Given the description of an element on the screen output the (x, y) to click on. 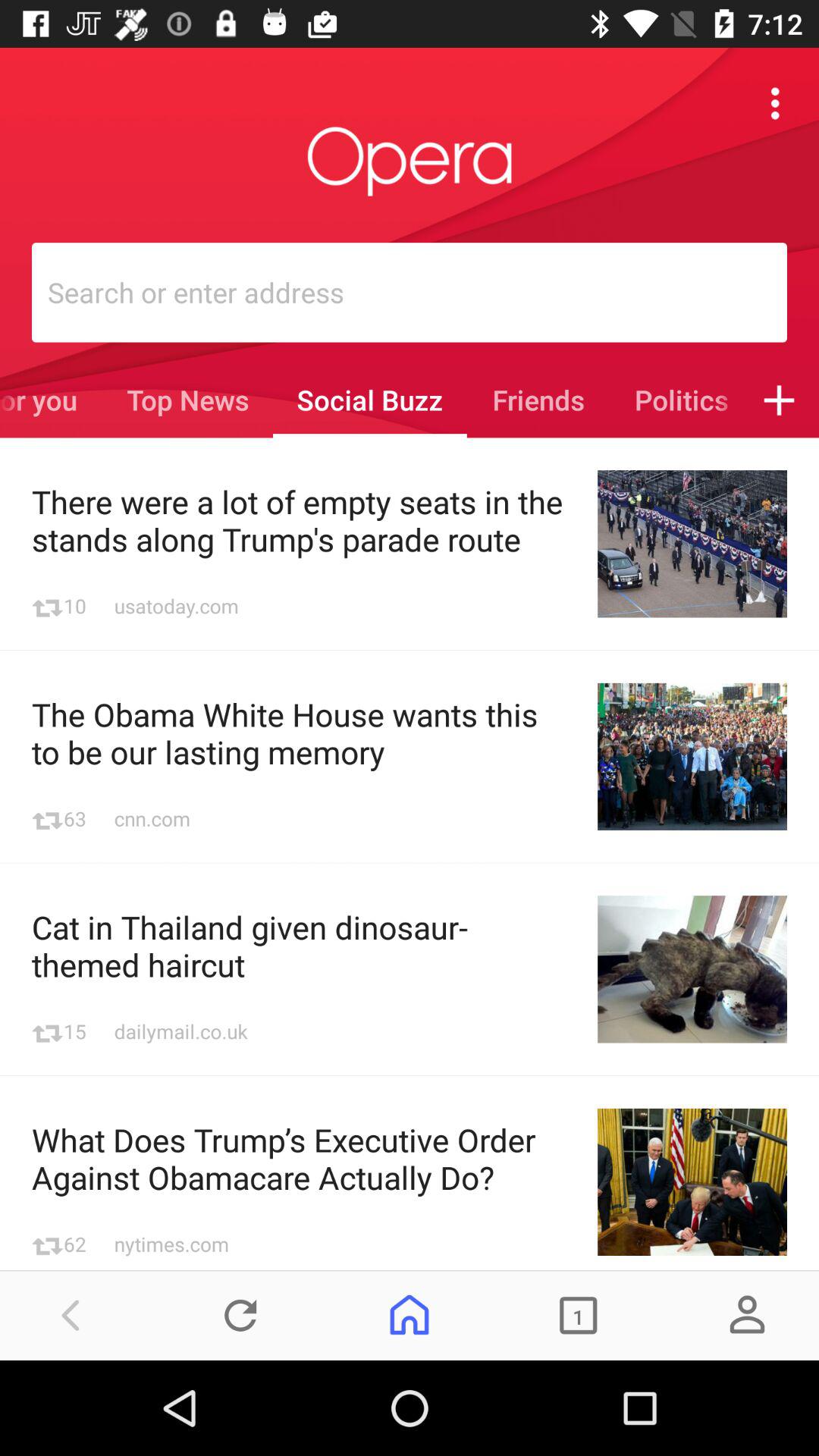
launch icon next to politics icon (779, 399)
